Given the description of an element on the screen output the (x, y) to click on. 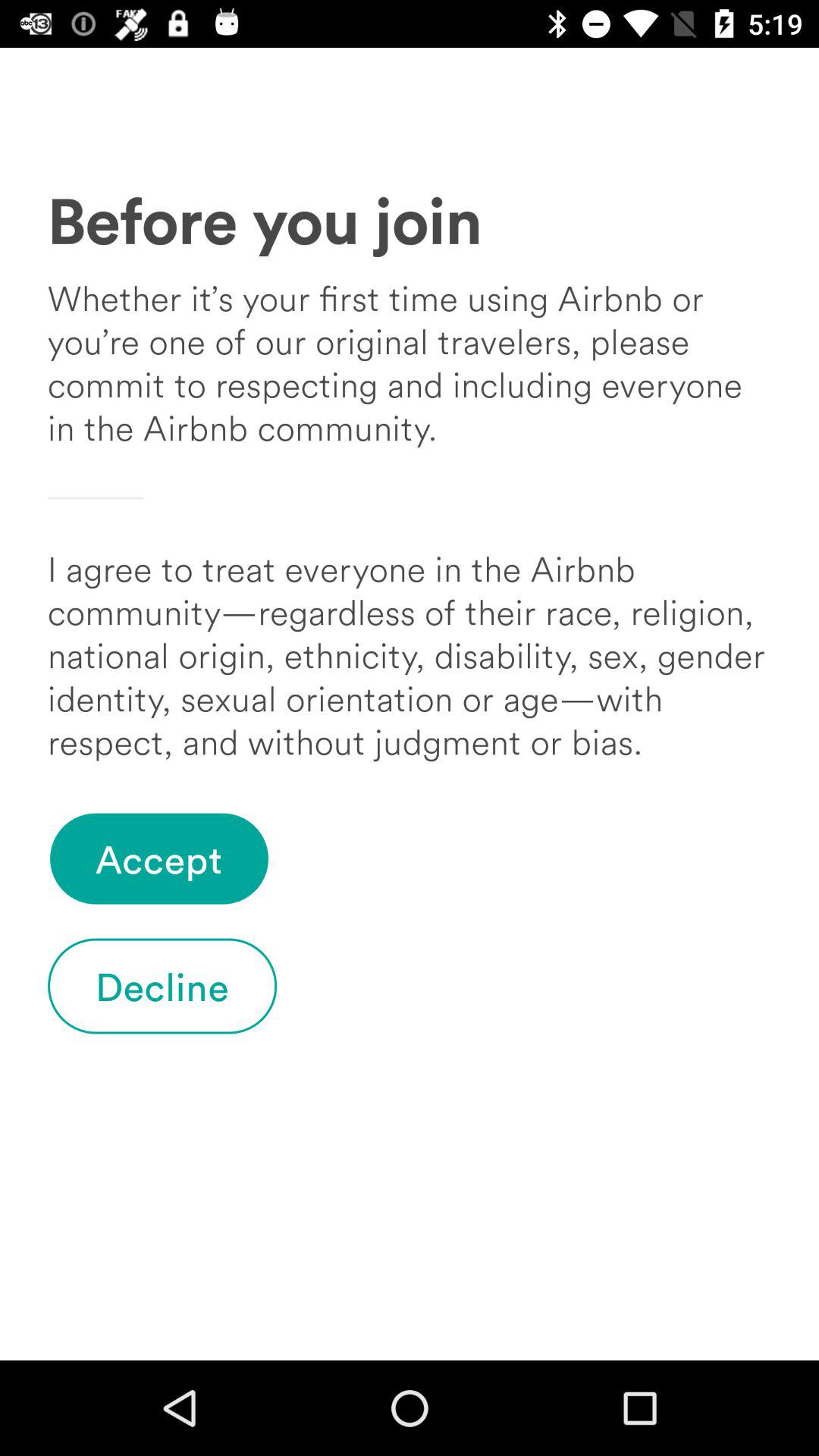
press decline item (161, 985)
